Given the description of an element on the screen output the (x, y) to click on. 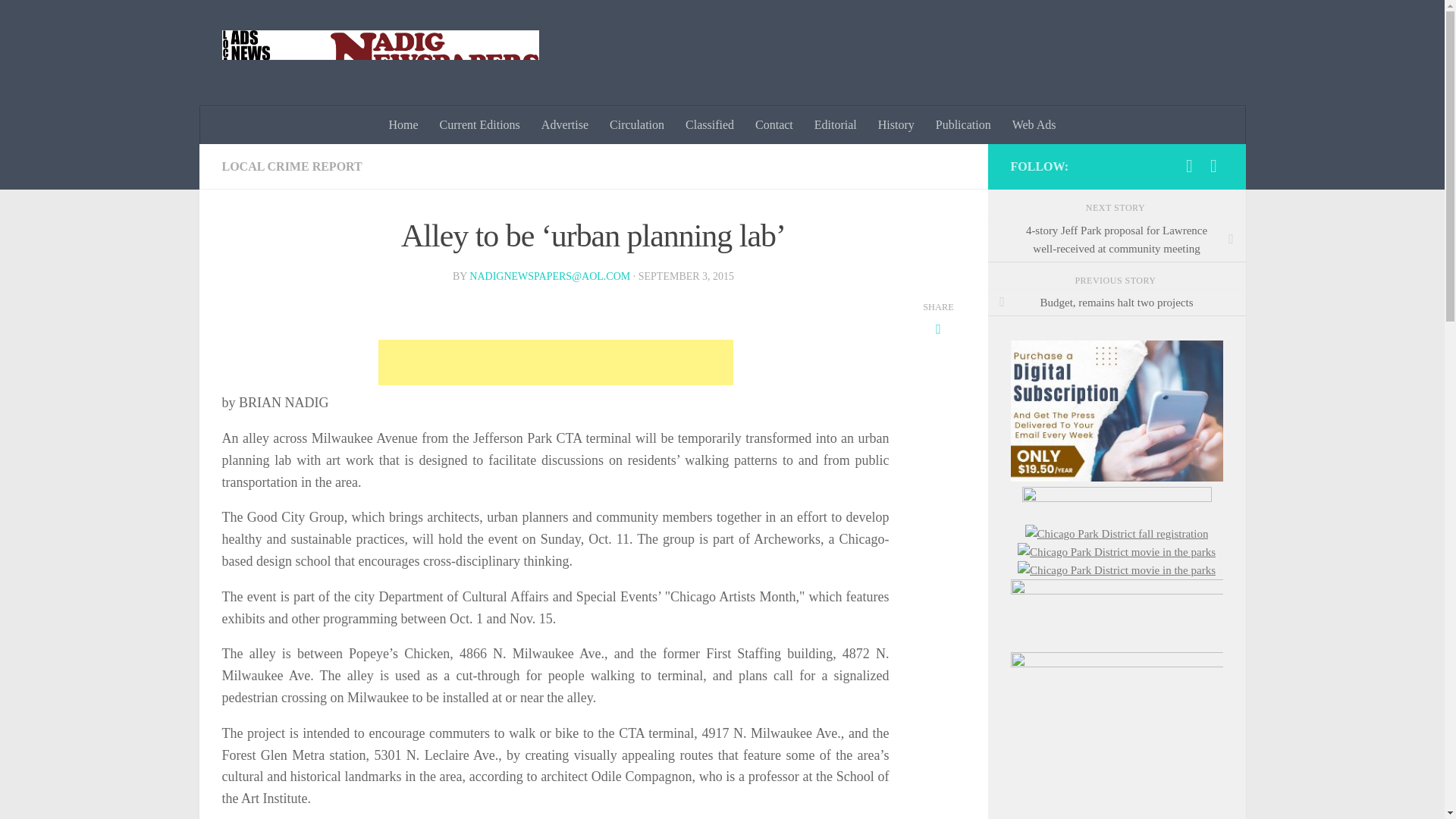
Current Editions (480, 125)
Home (402, 125)
Circulation (636, 125)
Follow us on Facebook (1188, 166)
Budget, remains halt two projects (1115, 302)
Skip to content (59, 20)
Publication (962, 125)
LOCAL CRIME REPORT (291, 165)
Follow us on Twitter (1213, 166)
Web Ads (1034, 125)
History (895, 125)
Classified (709, 125)
Editorial (835, 125)
Advertise (564, 125)
